Given the description of an element on the screen output the (x, y) to click on. 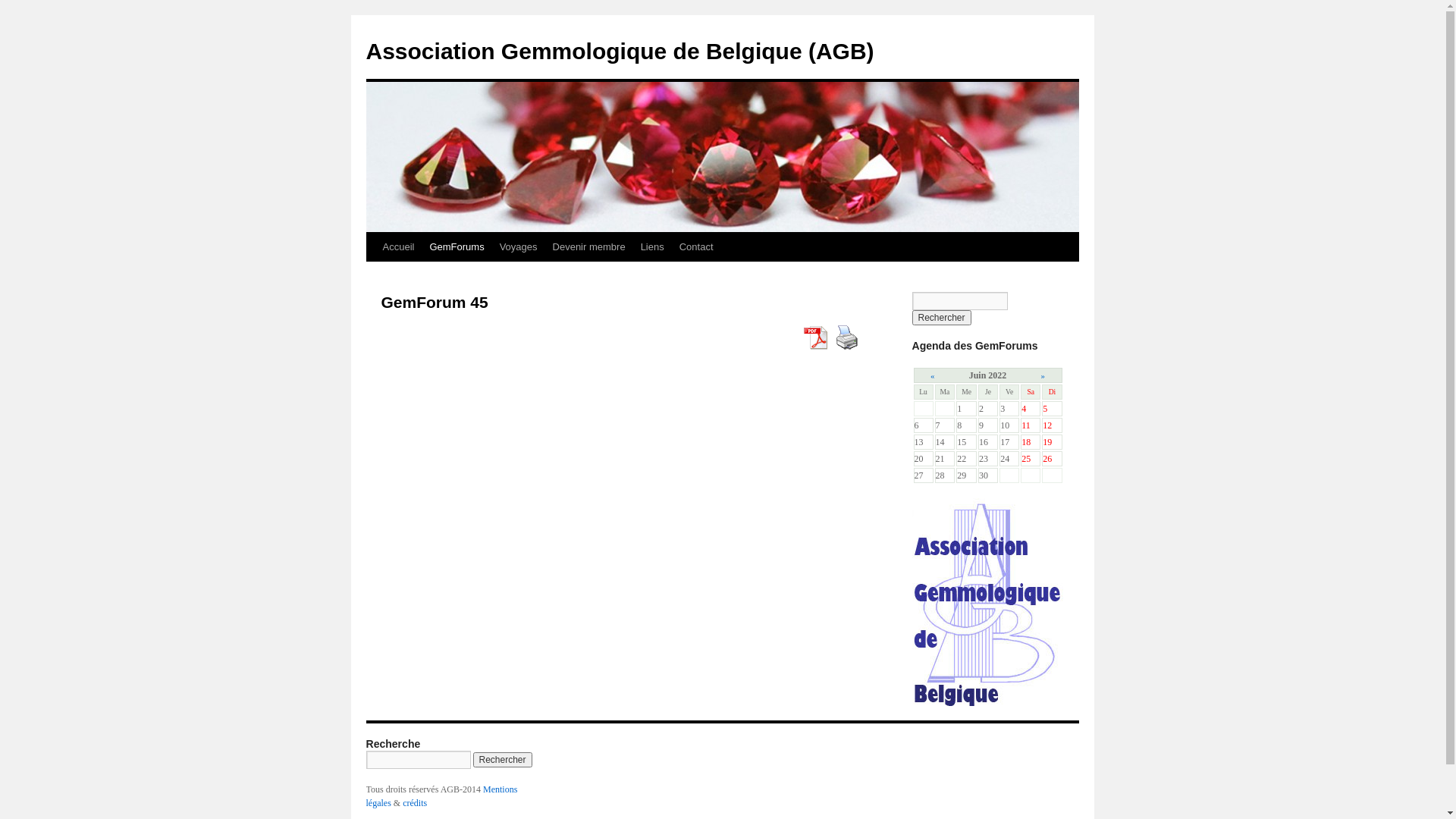
Voyages Element type: text (518, 246)
GemForums Element type: text (456, 246)
Print Content Element type: hover (846, 337)
Devenir membre Element type: text (589, 246)
Aller au contenu Element type: text (372, 275)
Association Gemmologique de Belgique (AGB) Element type: text (619, 50)
View PDF Element type: hover (814, 337)
Accueil Element type: text (397, 246)
Contact Element type: text (696, 246)
Rechercher Element type: text (502, 759)
Rechercher Element type: text (940, 317)
Liens Element type: text (652, 246)
